Given the description of an element on the screen output the (x, y) to click on. 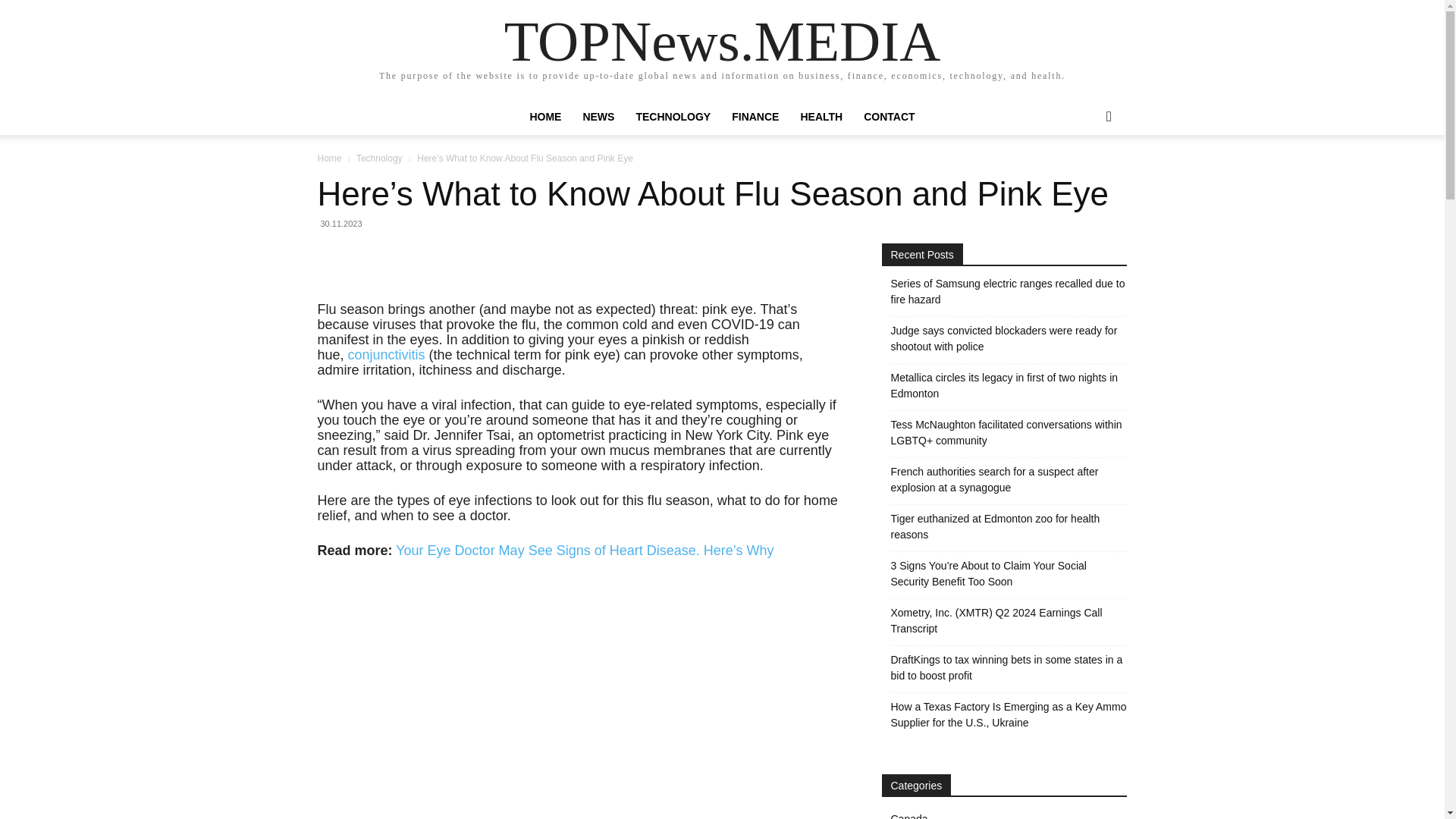
TECHNOLOGY (672, 116)
CONTACT (888, 116)
Technology (379, 158)
FINANCE (754, 116)
Home (328, 158)
Search (1085, 177)
View all posts in Technology (379, 158)
HEALTH (821, 116)
NEWS (598, 116)
